Given the description of an element on the screen output the (x, y) to click on. 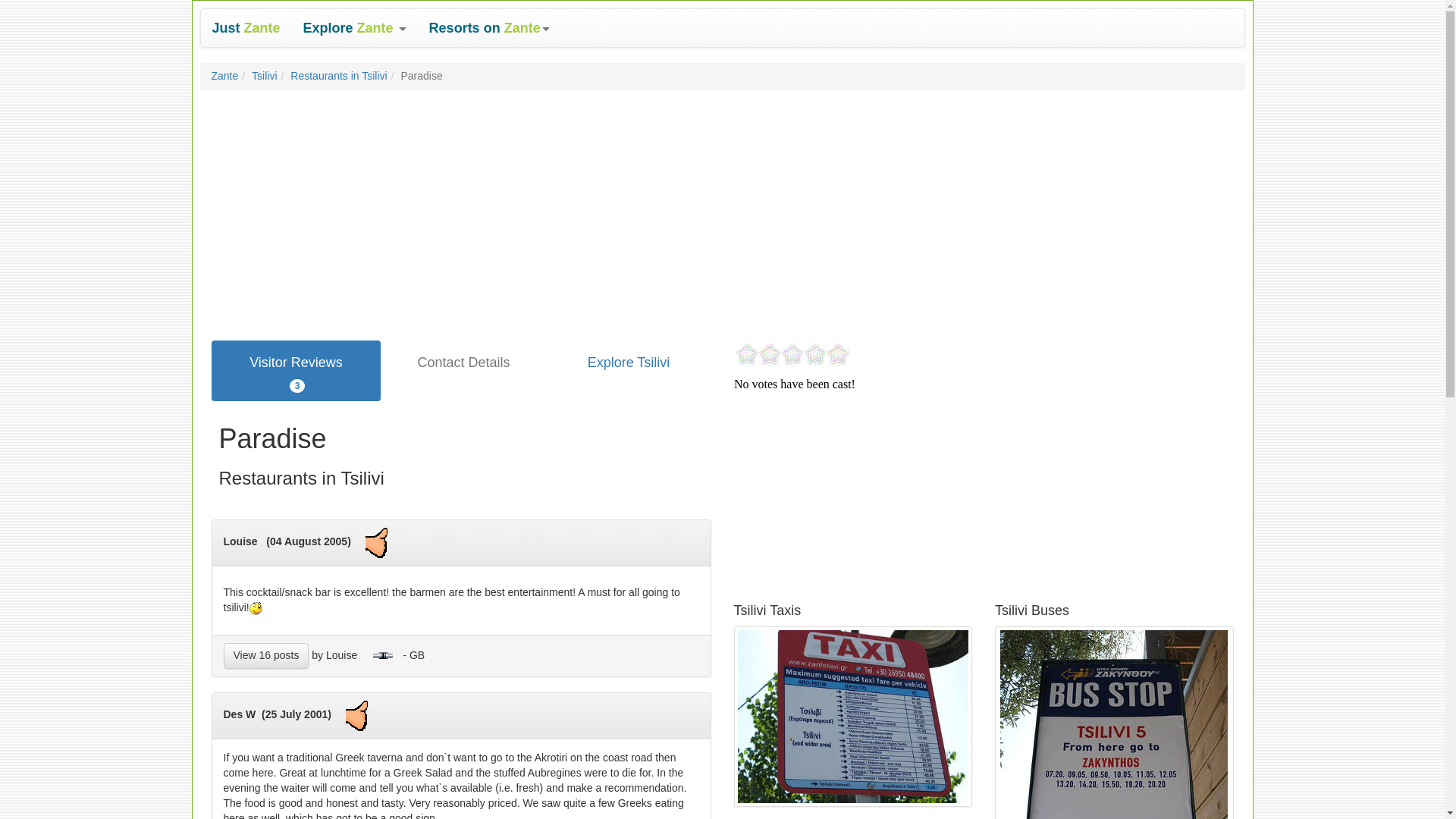
Resorts on Zante (488, 27)
Explore Zante (354, 27)
View 16 posts (265, 655)
Contact Details (463, 362)
Advertisement (846, 496)
Restaurants in Tsilivi (338, 75)
Tsilivi (263, 75)
Zante (224, 75)
Explore Tsilivi (628, 362)
Just Zante (245, 27)
